Given the description of an element on the screen output the (x, y) to click on. 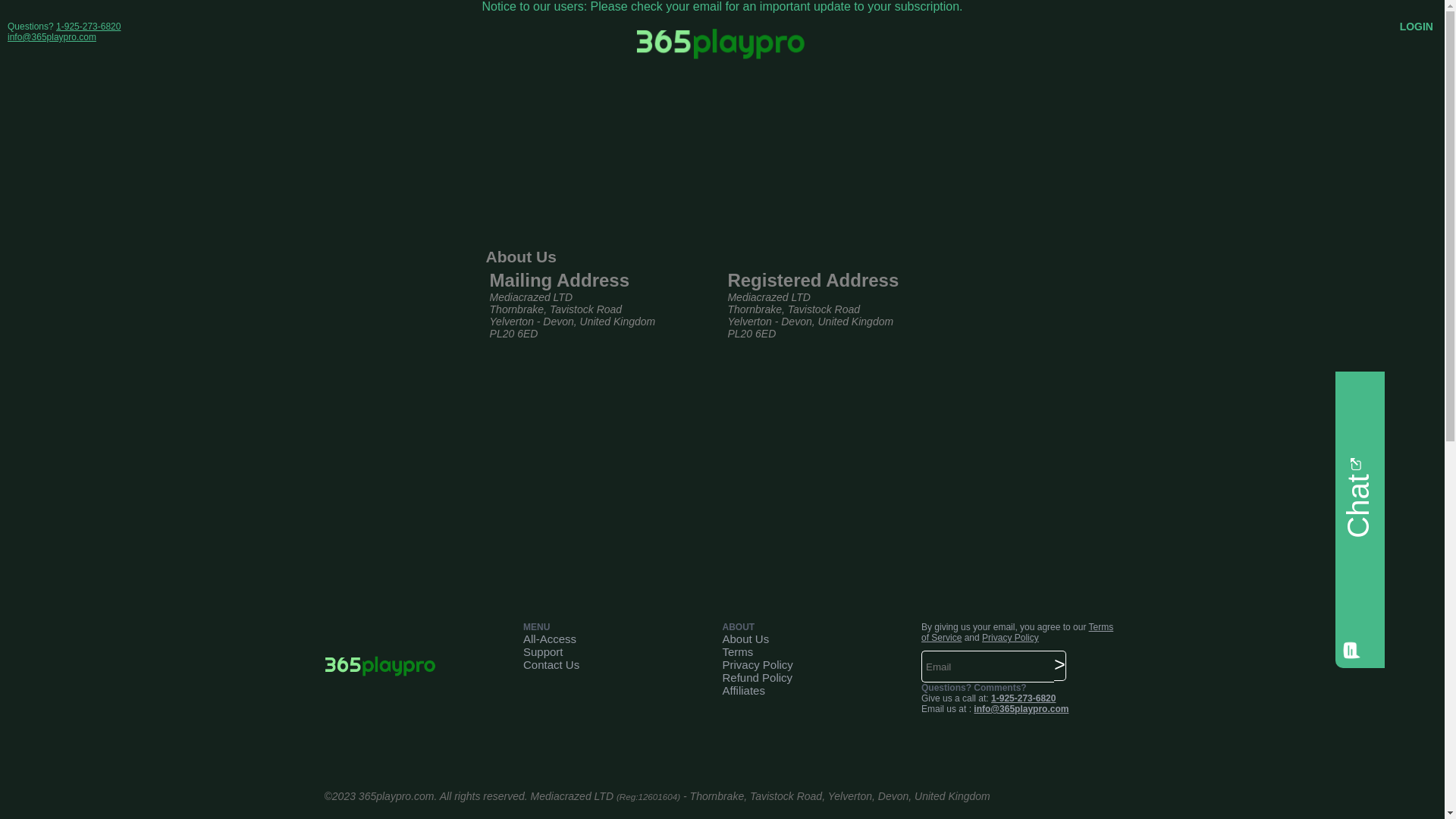
info@365playpro.com Element type: text (1020, 708)
Privacy Policy Element type: text (1010, 637)
1-925-273-6820 Element type: text (1023, 698)
Affiliates Element type: text (742, 690)
> Element type: text (1060, 665)
Support Element type: text (543, 651)
Privacy Policy Element type: text (756, 664)
info@365playpro.com Element type: text (51, 36)
About Us Element type: text (744, 638)
Contact Us Element type: text (551, 664)
1-925-273-6820 Element type: text (88, 26)
Refund Policy Element type: text (756, 677)
LOGIN Element type: text (1416, 26)
Terms Element type: text (737, 651)
Terms of Service Element type: text (1017, 632)
All-Access Element type: text (549, 638)
